Given the description of an element on the screen output the (x, y) to click on. 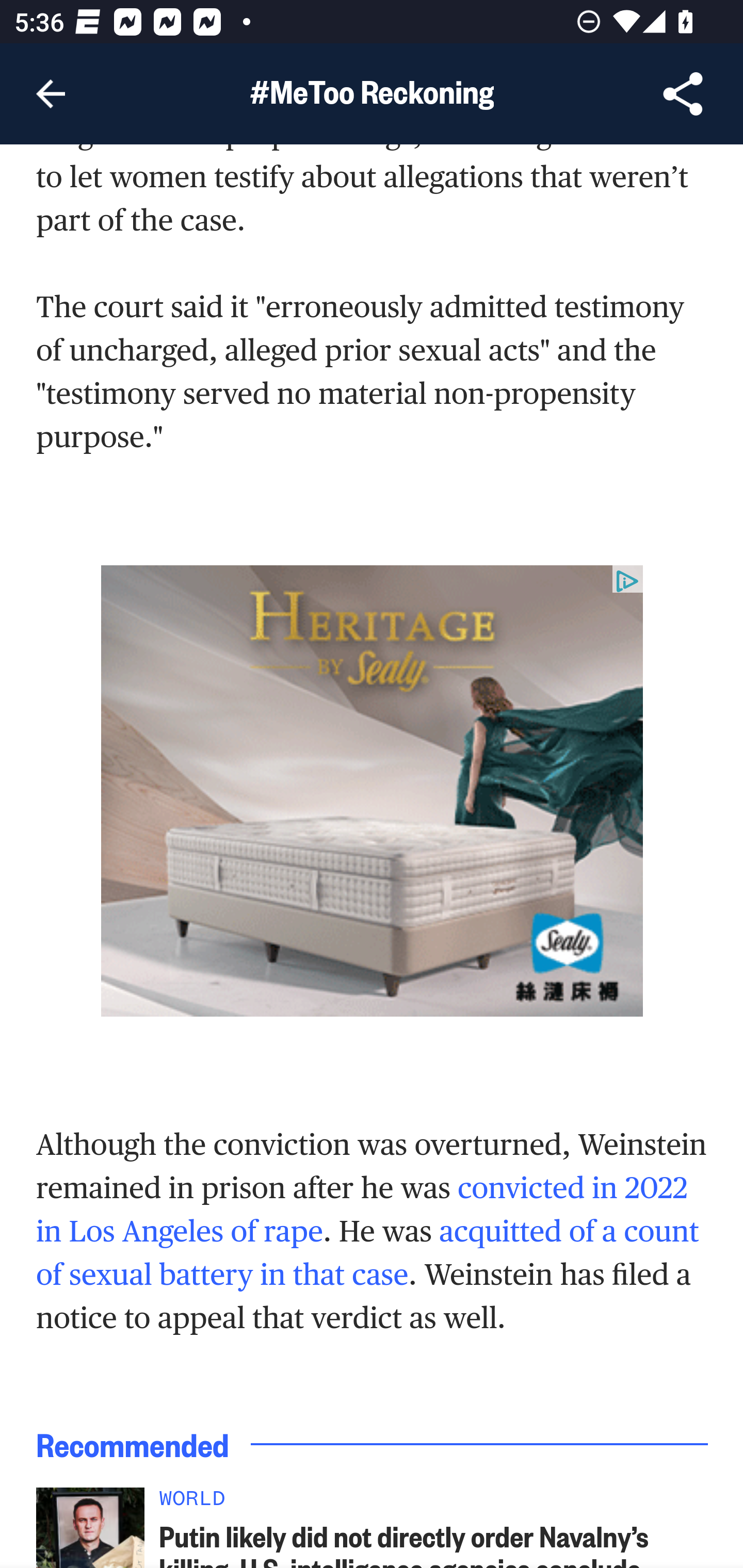
Navigate up (50, 93)
Share Article, button (683, 94)
adchoices (626, 582)
convicted in 2022 in Los Angeles of rape (362, 1211)
WORLD (434, 1506)
